Given the description of an element on the screen output the (x, y) to click on. 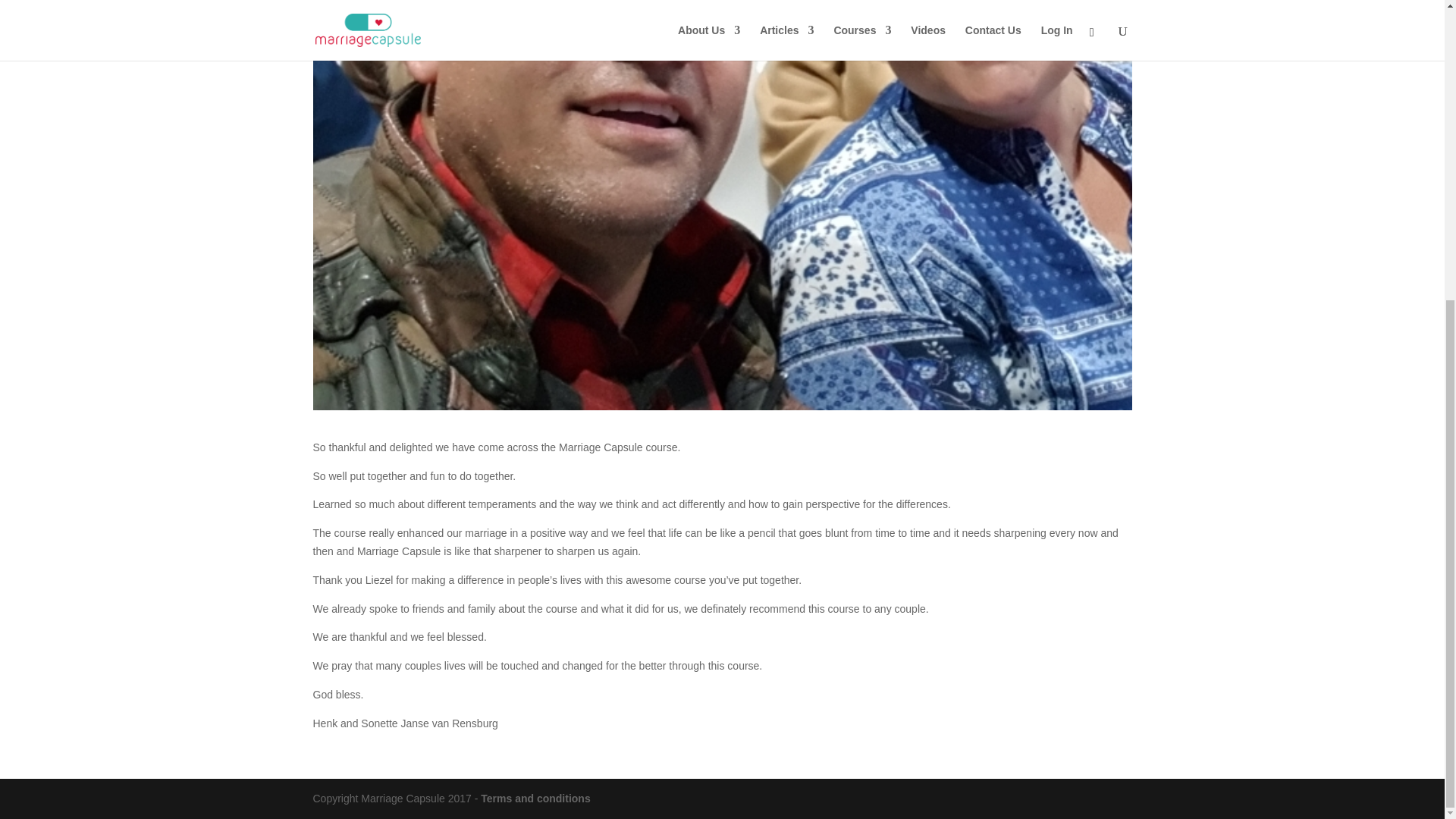
Terms and conditions (534, 798)
